Given the description of an element on the screen output the (x, y) to click on. 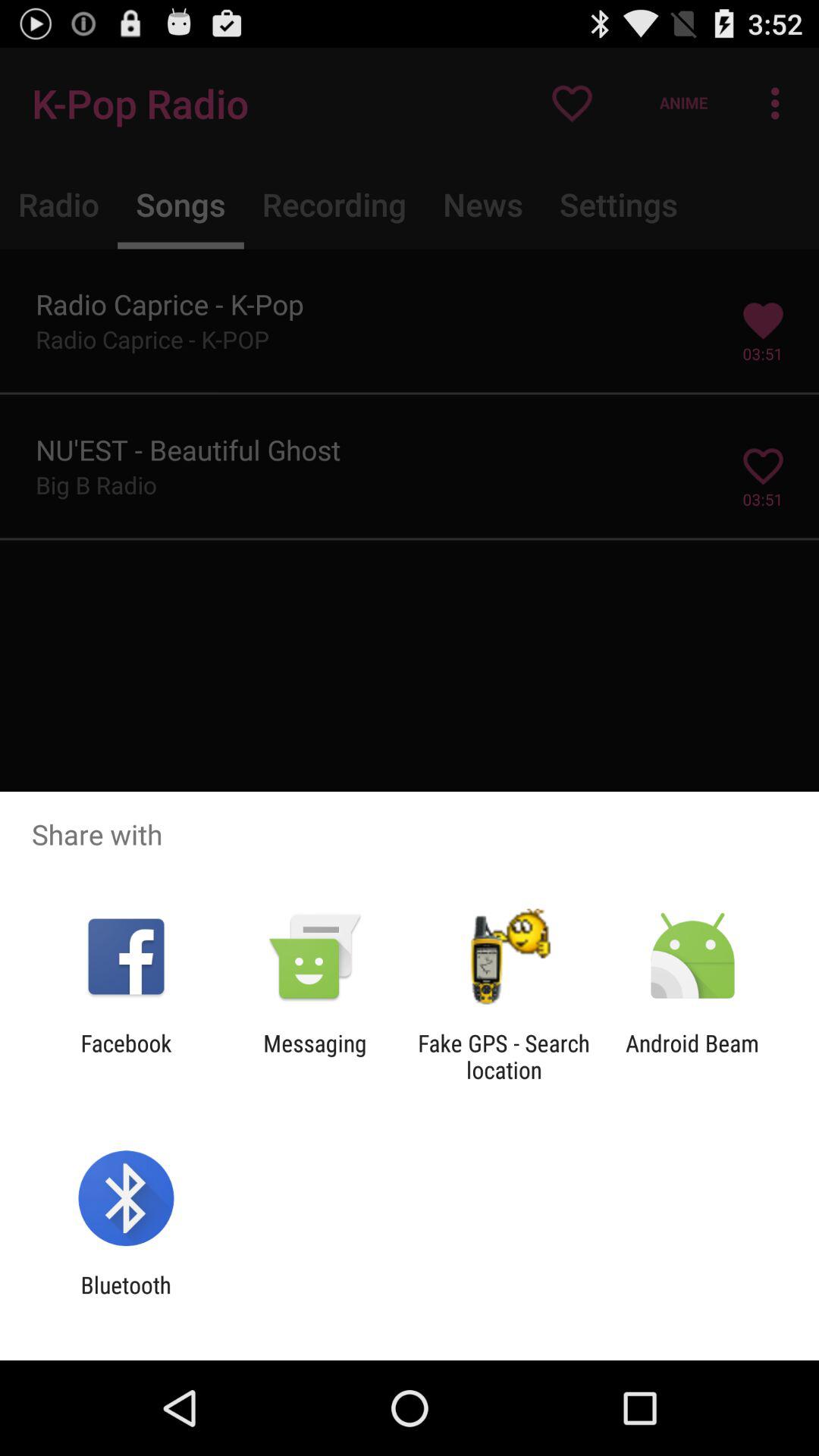
click icon to the left of fake gps search (314, 1056)
